Given the description of an element on the screen output the (x, y) to click on. 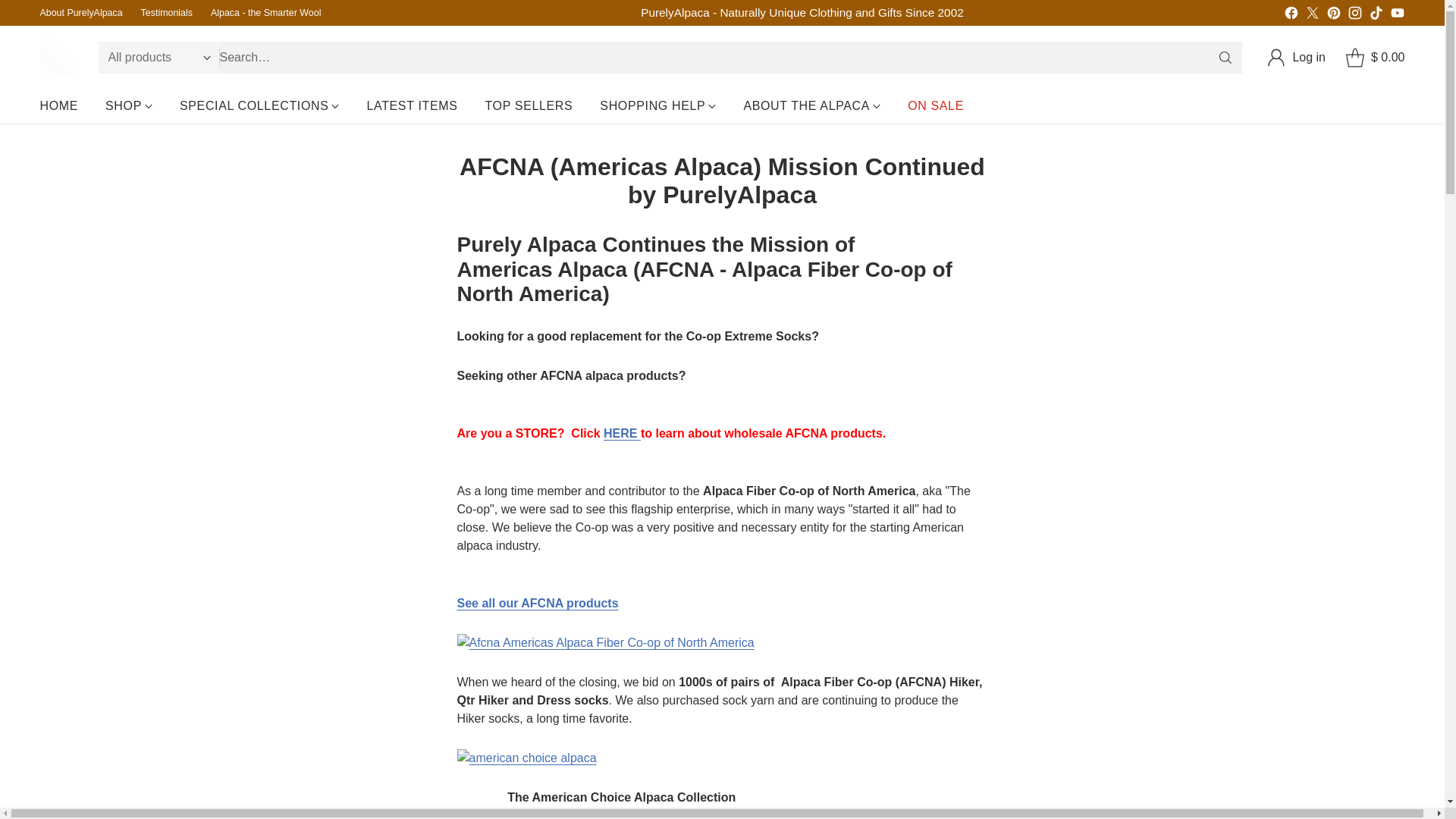
Purely Alpaca on Tiktok (1375, 14)
Testimonials (166, 12)
Log in (1295, 57)
Purely Alpaca on Twitter (1311, 14)
Purely Alpaca on Instagram (1353, 14)
american choice alpaca products (722, 758)
afcna alpaca products (722, 642)
Purely Alpaca on Facebook (1290, 14)
About PurelyAlpaca (80, 12)
afcna alpaca products (537, 603)
HOME (58, 106)
Alpaca - the Smarter Wool (265, 12)
Purely Alpaca on Pinterest (1332, 14)
